Given the description of an element on the screen output the (x, y) to click on. 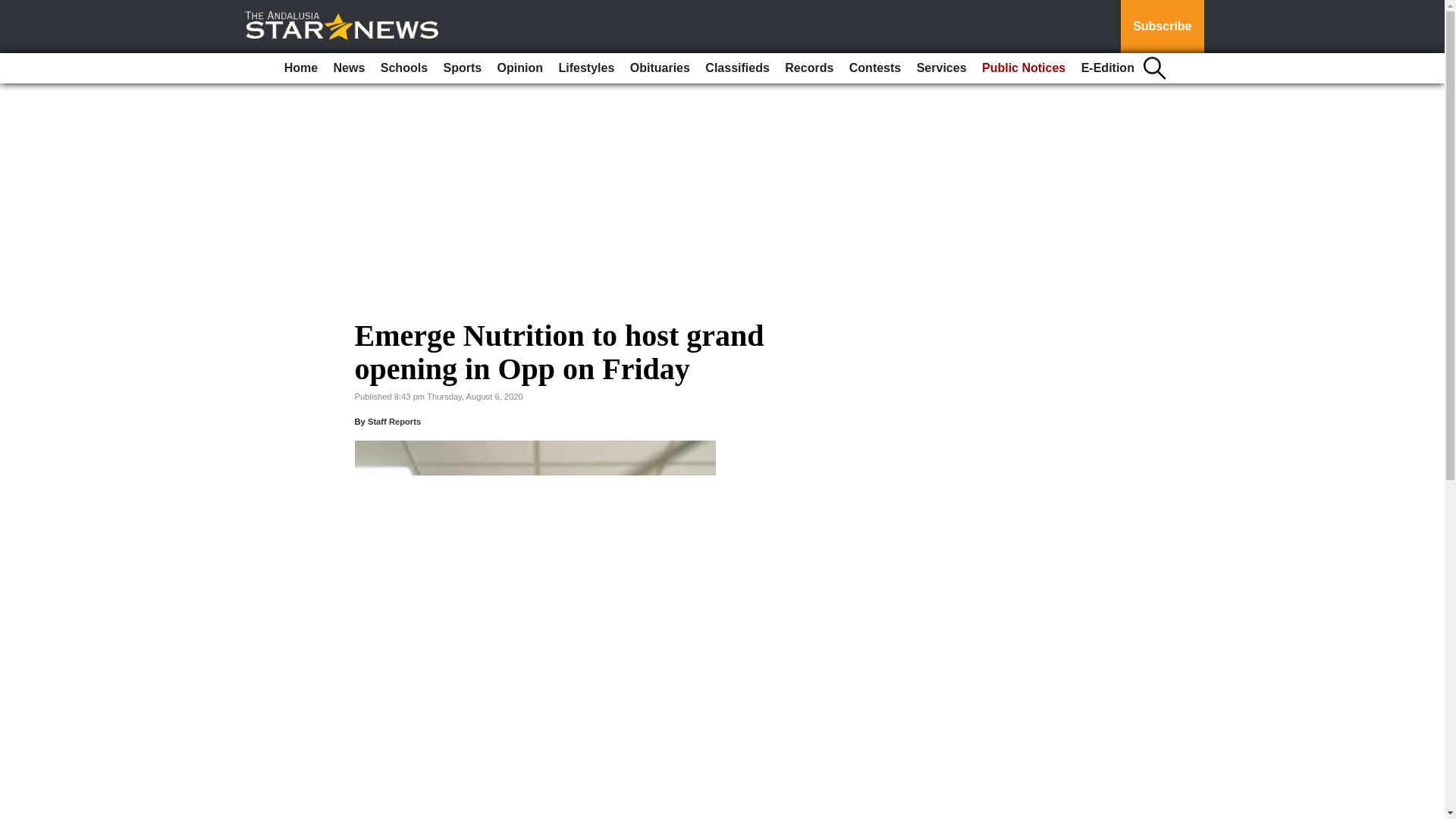
Classifieds (736, 68)
Lifestyles (585, 68)
Subscribe (1162, 26)
Services (941, 68)
Public Notices (1023, 68)
Obituaries (659, 68)
Schools (403, 68)
Home (300, 68)
Records (809, 68)
E-Edition (1107, 68)
